Given the description of an element on the screen output the (x, y) to click on. 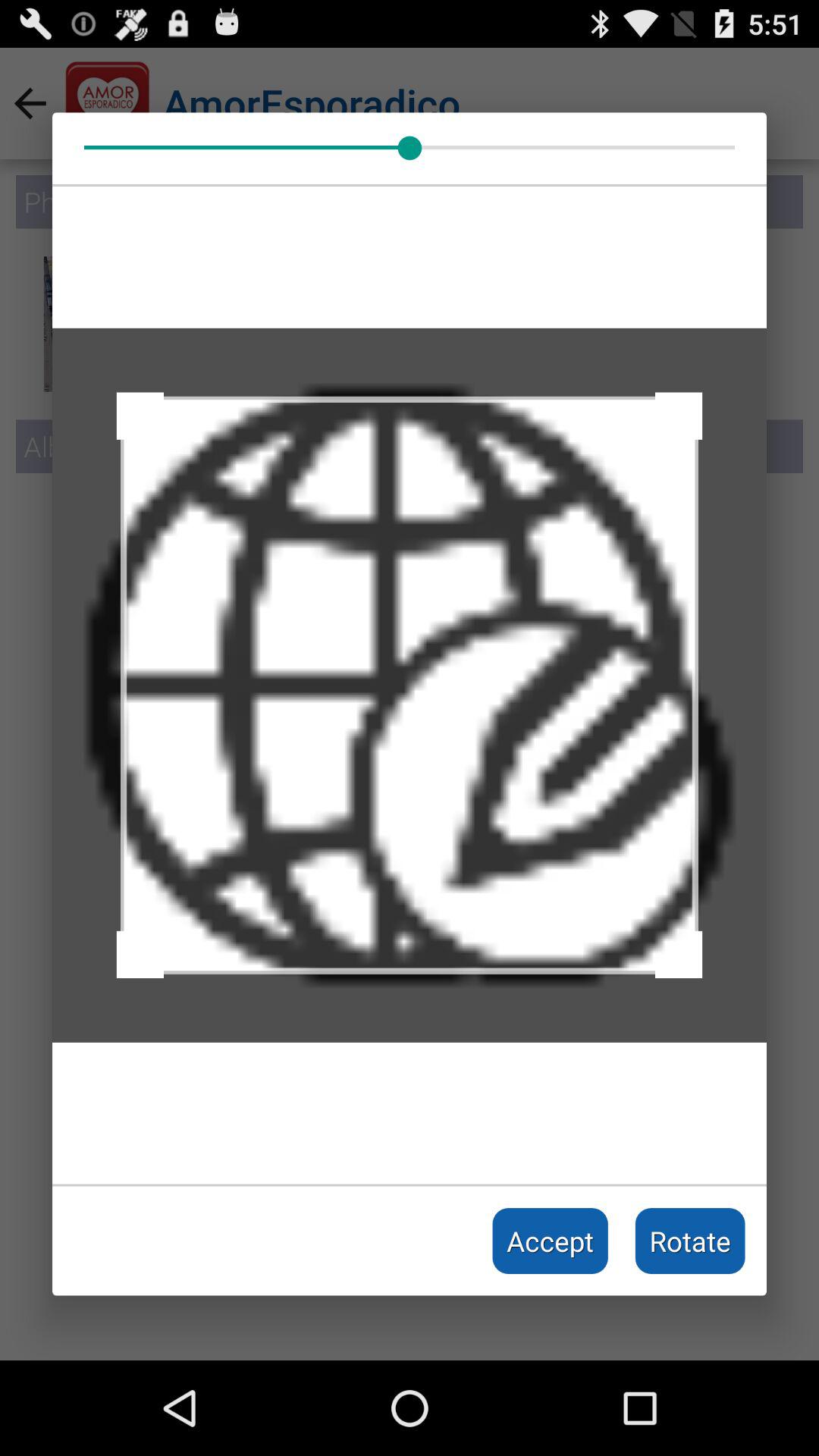
flip to the rotate item (689, 1240)
